Given the description of an element on the screen output the (x, y) to click on. 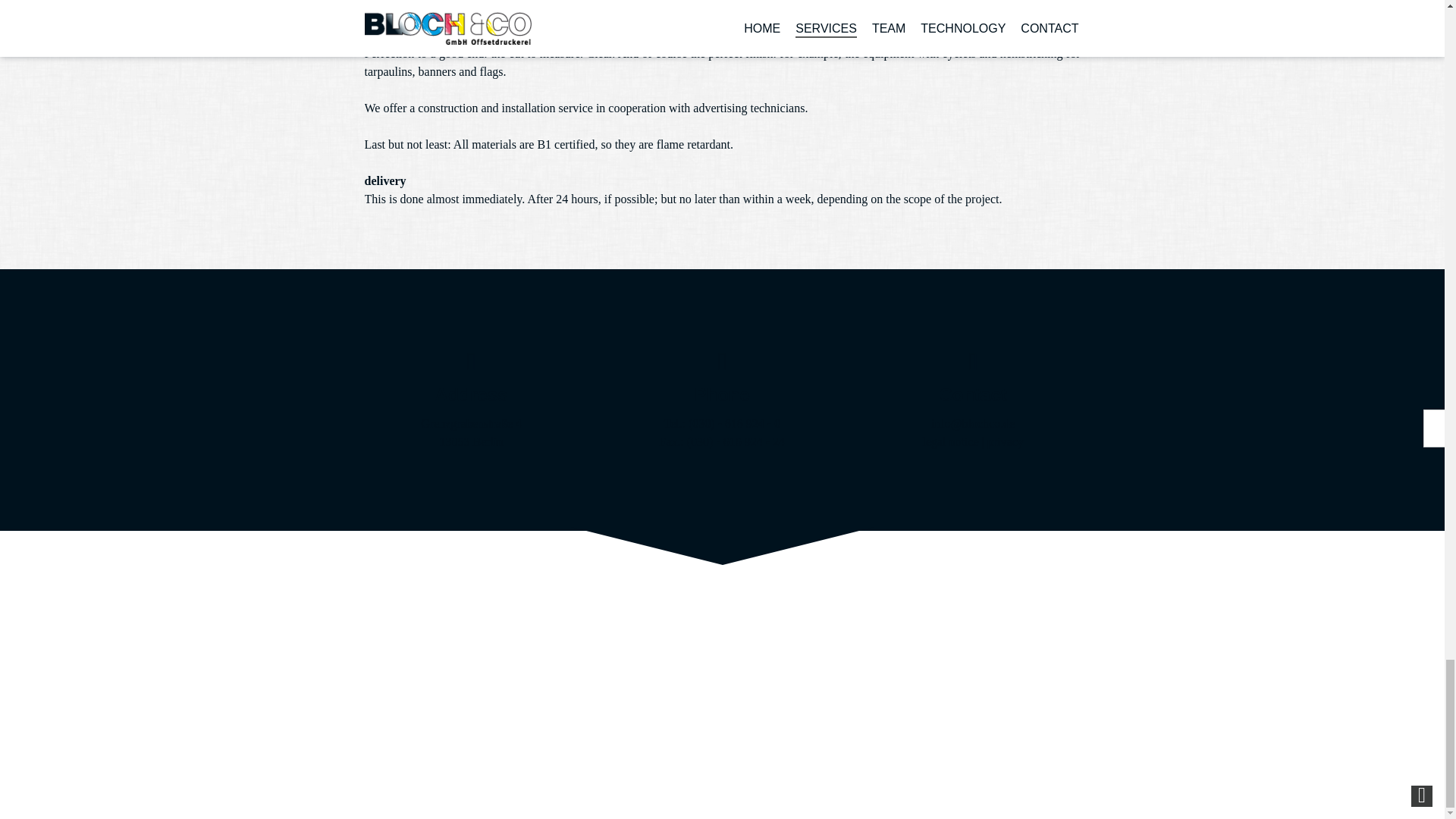
privacy (1005, 441)
legal notice (949, 441)
